Given the description of an element on the screen output the (x, y) to click on. 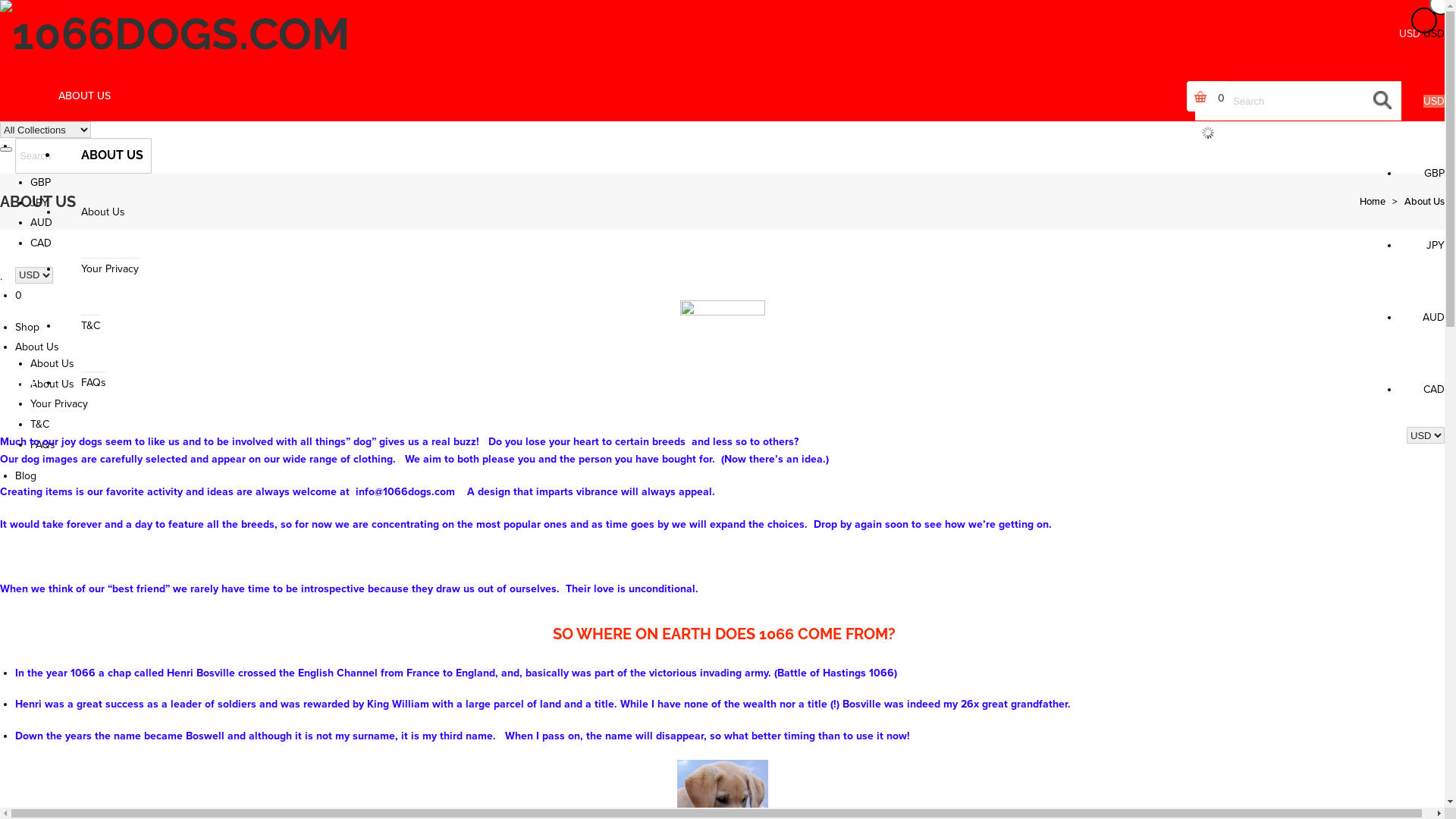
SHOP Element type: text (23, 382)
Home Element type: text (1372, 201)
T&C Element type: text (39, 423)
Your Privacy Element type: text (58, 403)
FAQs Element type: text (93, 381)
CAD Element type: text (1433, 388)
USD Element type: text (1433, 100)
GBP Element type: text (40, 181)
GBP Element type: text (1434, 172)
0 Element type: text (729, 295)
T&C Element type: text (90, 324)
CAD Element type: text (40, 242)
info@1066dogs.com Element type: text (405, 491)
JPY Element type: text (1435, 244)
Shop Element type: text (27, 326)
USD USD Element type: text (1421, 33)
JPY Element type: text (39, 202)
USD USD Element type: text (37, 145)
About Us Element type: text (1424, 201)
0 Element type: text (1315, 96)
USD Element type: text (40, 161)
AUD Element type: text (41, 222)
FAQs Element type: text (42, 444)
BLOG Element type: text (268, 382)
About Us Element type: text (37, 346)
About Us Element type: text (103, 211)
ABOUT US Element type: text (86, 95)
Blog Element type: text (25, 475)
About Us Element type: text (52, 383)
Your Privacy Element type: text (109, 268)
AUD Element type: text (1433, 316)
